Given the description of an element on the screen output the (x, y) to click on. 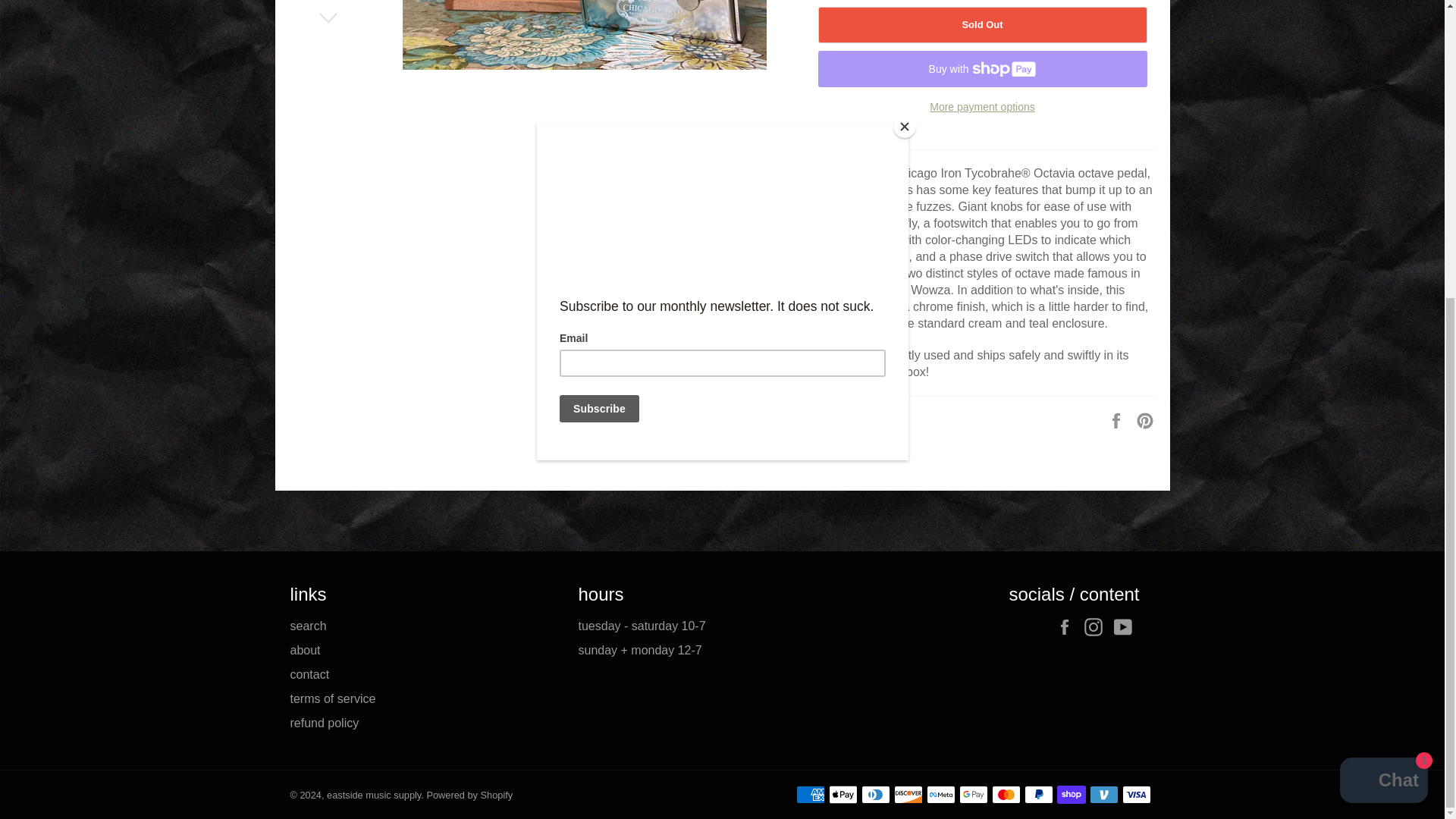
eastside music supply on Instagram (1096, 627)
Pin on Pinterest (1144, 420)
Shopify online store chat (1383, 320)
Share on Facebook (1117, 420)
eastside music supply on YouTube (1125, 627)
eastside music supply on Facebook (1068, 627)
